Given the description of an element on the screen output the (x, y) to click on. 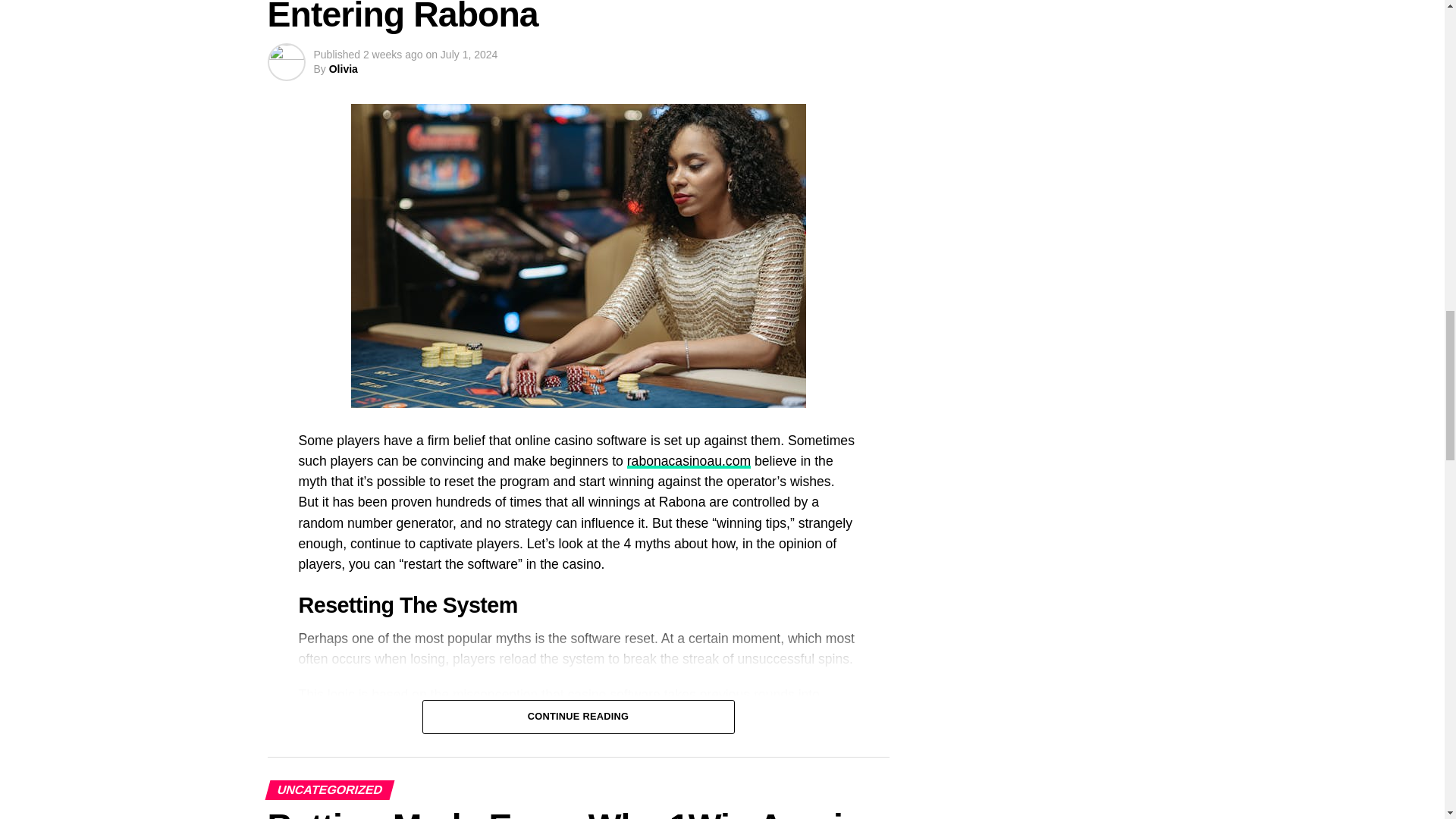
Posts by Olivia (343, 69)
